Given the description of an element on the screen output the (x, y) to click on. 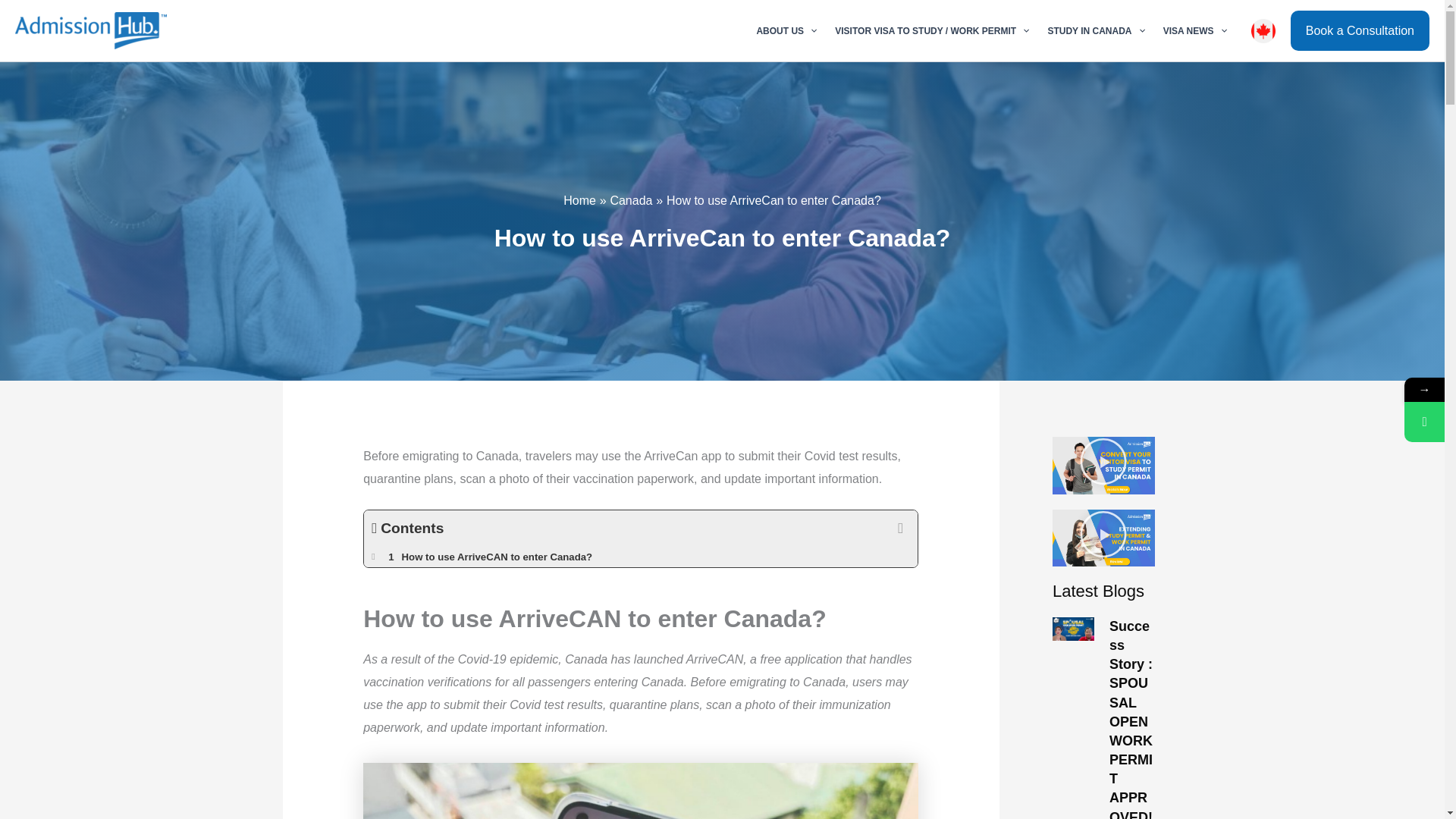
VISA NEWS (1195, 30)
ABOUT US (785, 30)
STUDY IN CANADA (1095, 30)
